Given the description of an element on the screen output the (x, y) to click on. 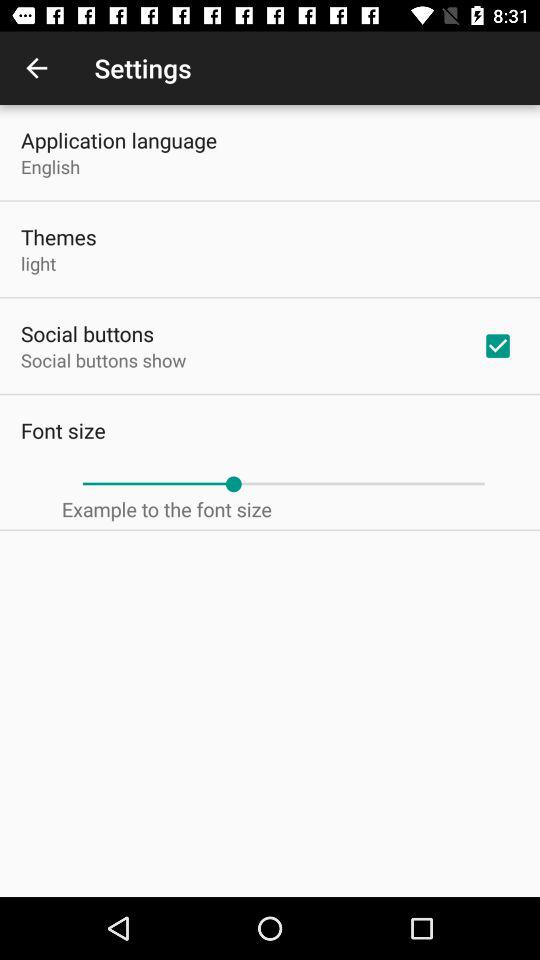
tap app to the left of settings (36, 68)
